Given the description of an element on the screen output the (x, y) to click on. 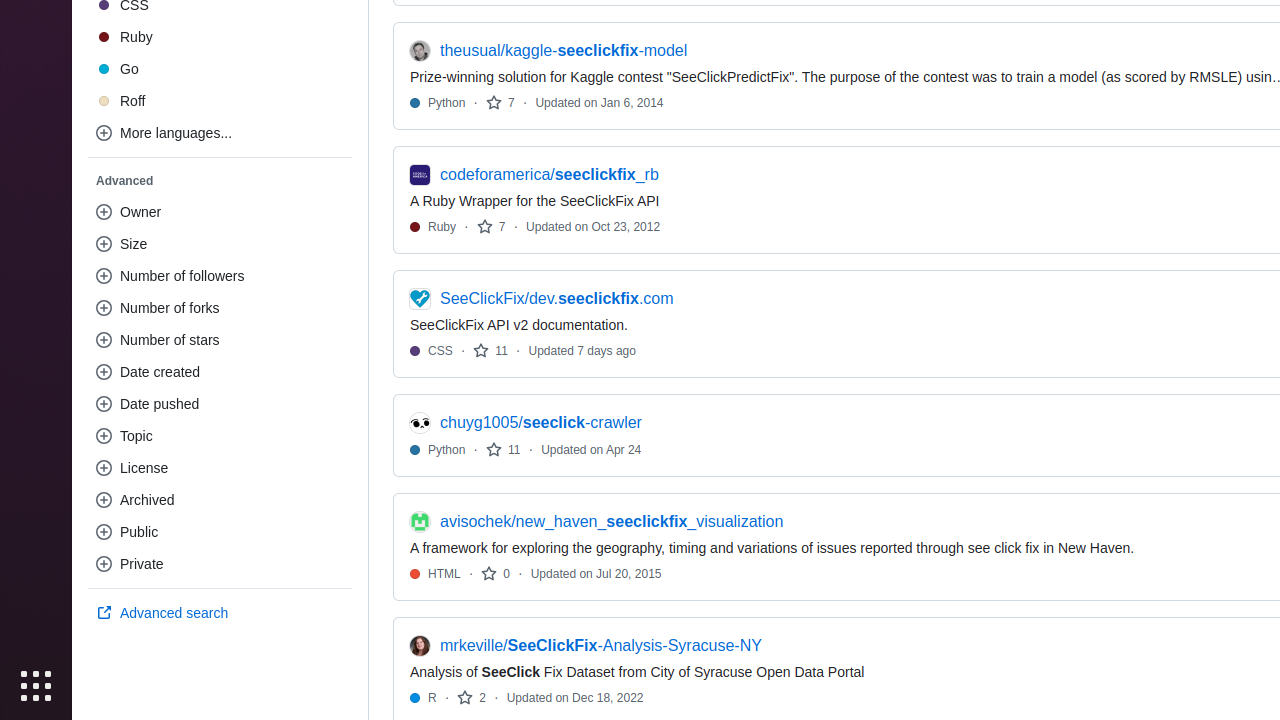
‎Size‎ Element type: push-button (220, 244)
mrkeville/SeeClickFix-Analysis-Syracuse-NY Element type: link (601, 646)
‎Ruby‎ Element type: link (220, 37)
‎Number of forks‎ Element type: push-button (220, 308)
‎Number of stars‎ Element type: push-button (220, 340)
